Given the description of an element on the screen output the (x, y) to click on. 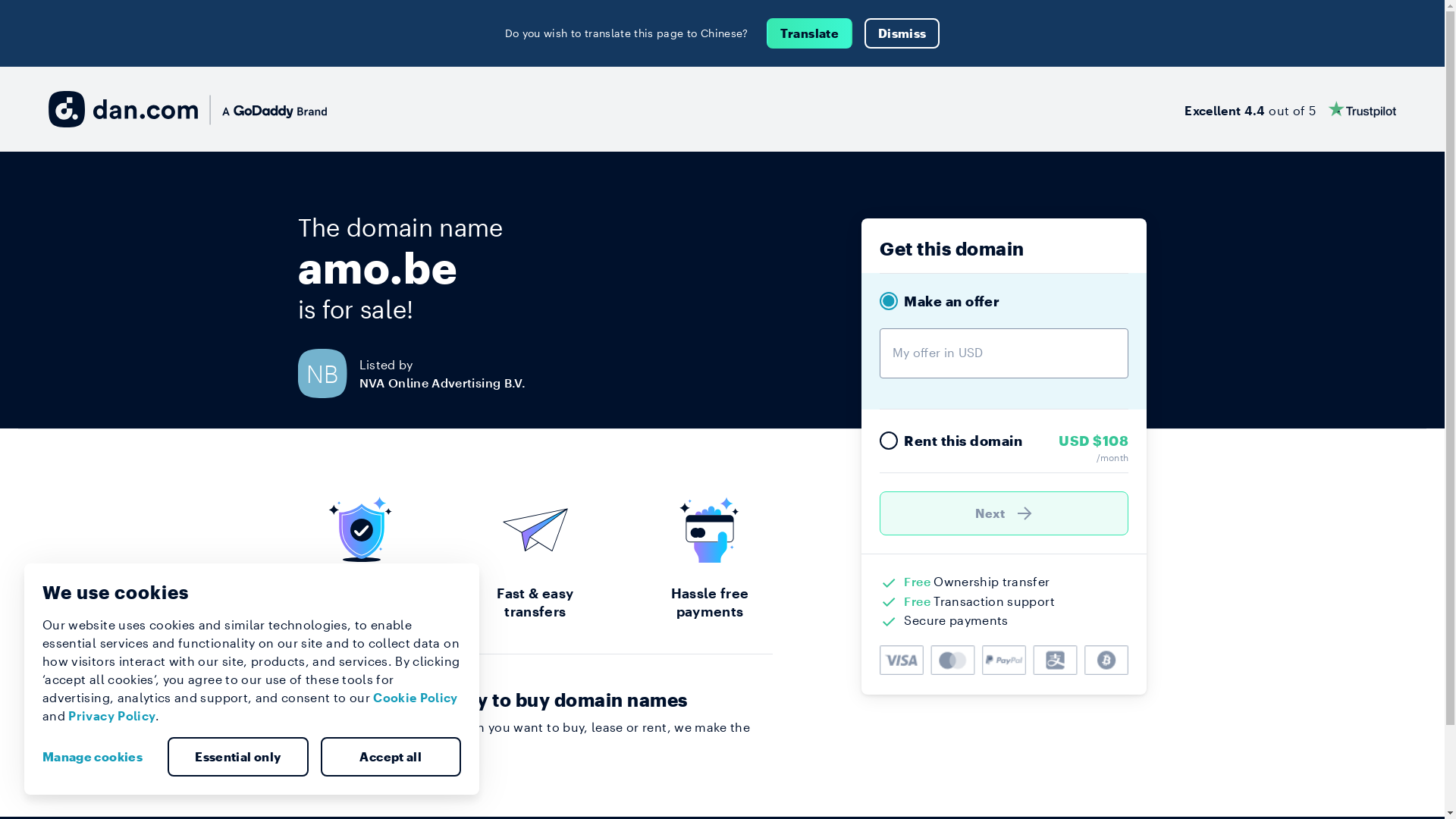
Next
) Element type: text (1003, 513)
Cookie Policy Element type: text (415, 697)
Excellent 4.4 out of 5 Element type: text (1290, 109)
Translate Element type: text (809, 33)
Accept all Element type: text (390, 756)
Manage cookies Element type: text (98, 756)
Privacy Policy Element type: text (111, 715)
Dismiss Element type: text (901, 33)
Essential only Element type: text (237, 756)
